Given the description of an element on the screen output the (x, y) to click on. 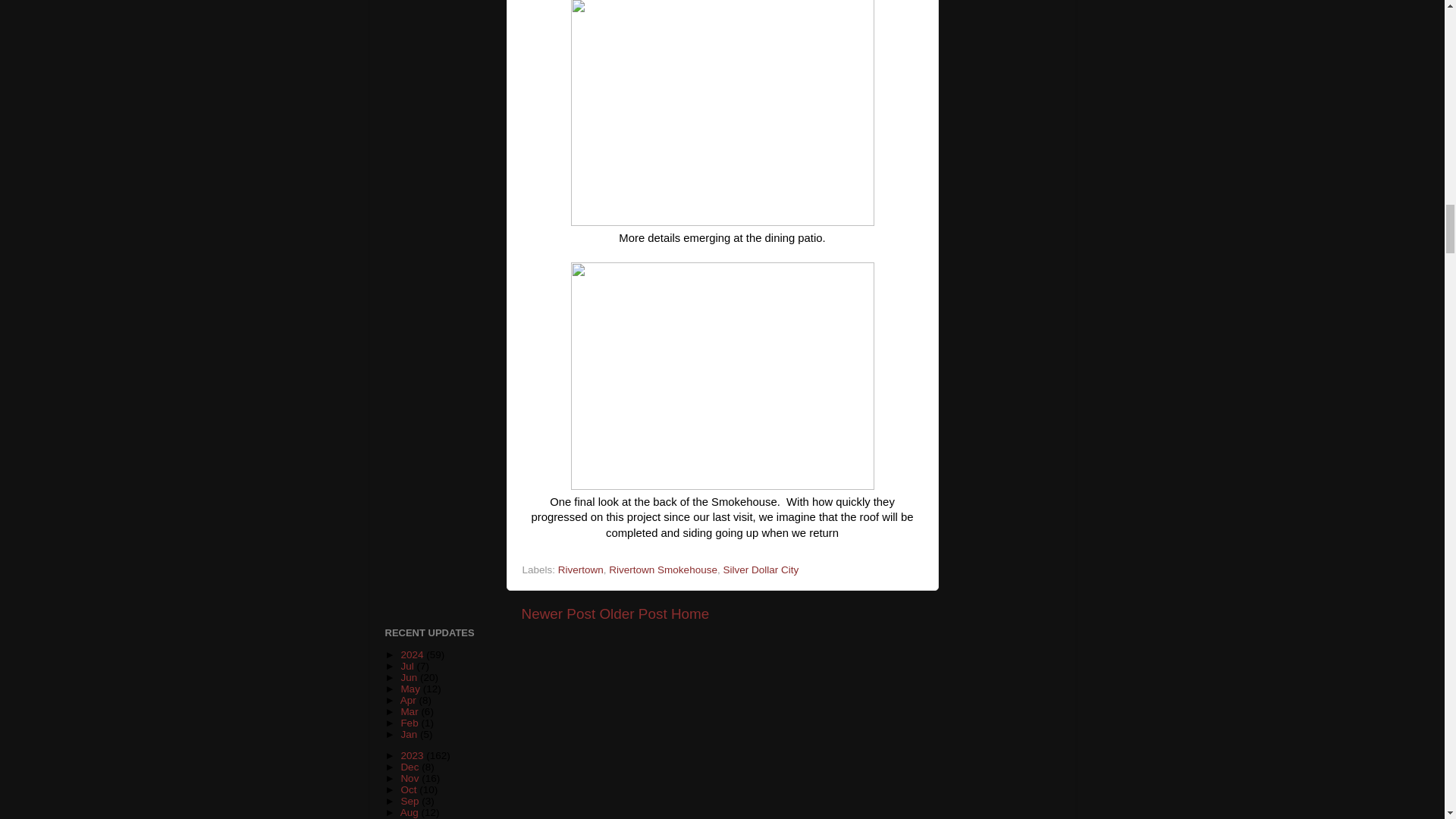
2024 (413, 654)
Mar (410, 711)
Apr (409, 699)
Feb (410, 722)
May (411, 688)
Home (690, 613)
Older Post (632, 613)
Rivertown Smokehouse (662, 569)
Jun (410, 677)
Jul (408, 665)
Newer Post (558, 613)
Rivertown (580, 569)
Silver Dollar City (759, 569)
Jan (410, 734)
Older Post (632, 613)
